Given the description of an element on the screen output the (x, y) to click on. 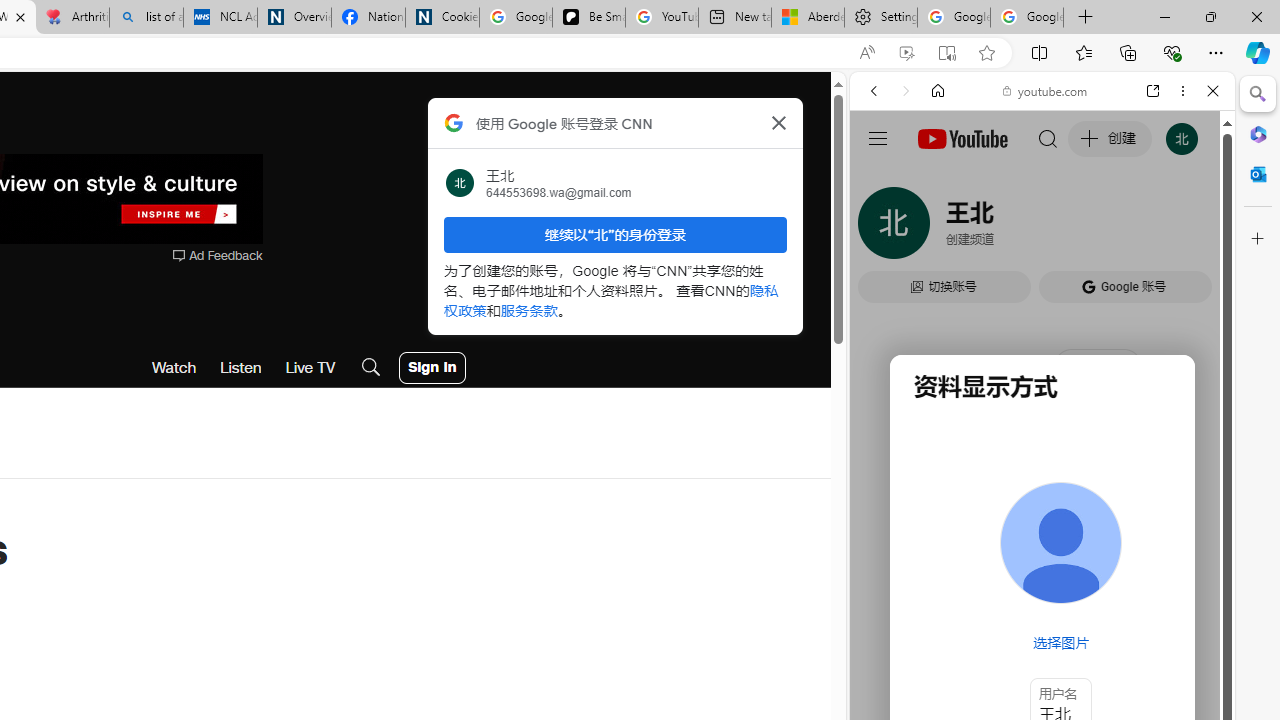
YouTube (1034, 296)
Be Smart | creating Science videos | Patreon (588, 17)
